Given the description of an element on the screen output the (x, y) to click on. 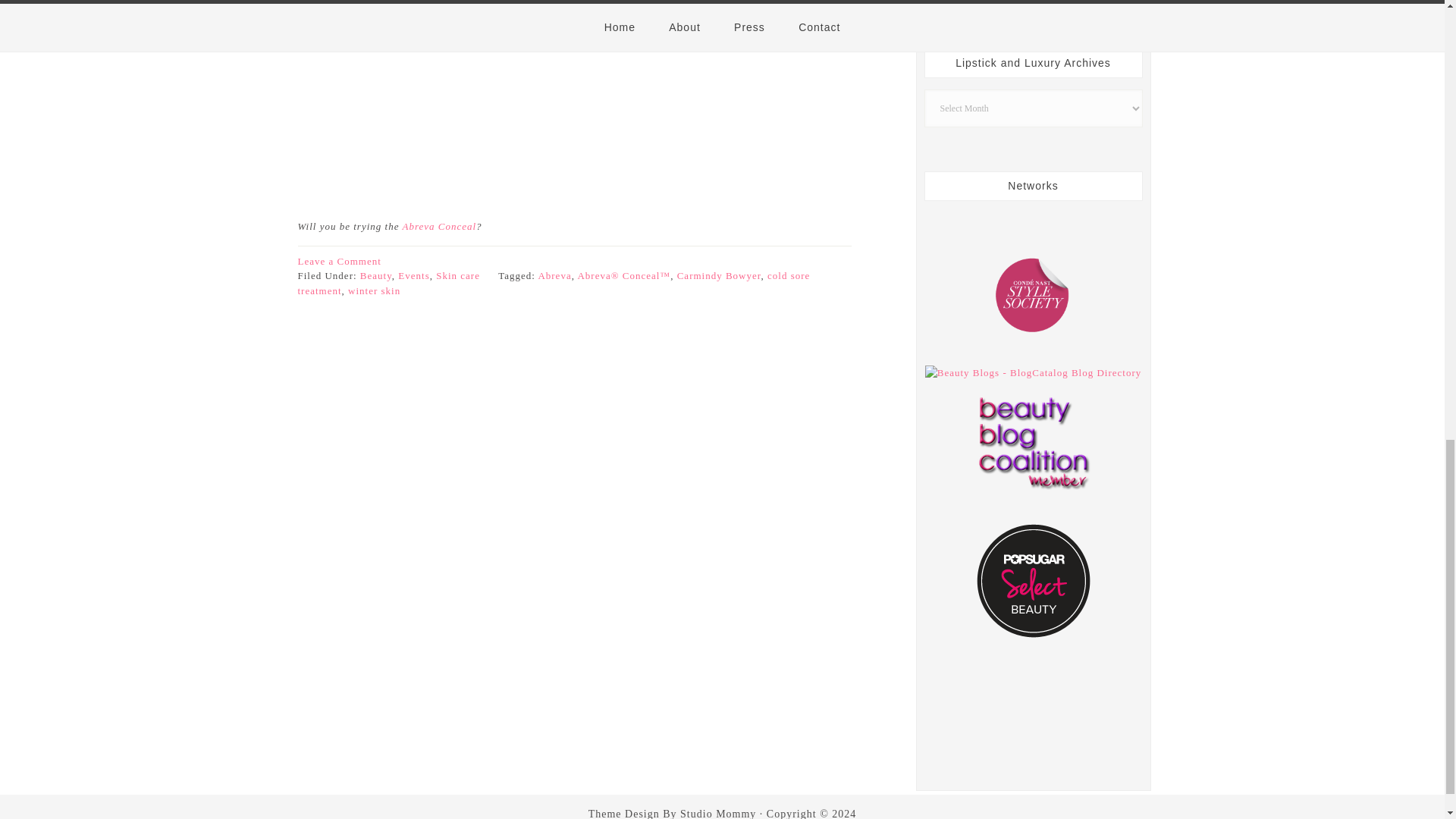
winter skin (373, 290)
Beauty Blogs - BlogCatalog Blog Directory (1032, 372)
Beauty (375, 275)
Carmindy Bowyer (719, 275)
Abreva Conceal - Cold Sore Patch (438, 225)
cold sore treatment (553, 283)
Skin care (457, 275)
Events (413, 275)
Leave a Comment (338, 260)
Abreva Conceal (438, 225)
Abreva (553, 275)
